Given the description of an element on the screen output the (x, y) to click on. 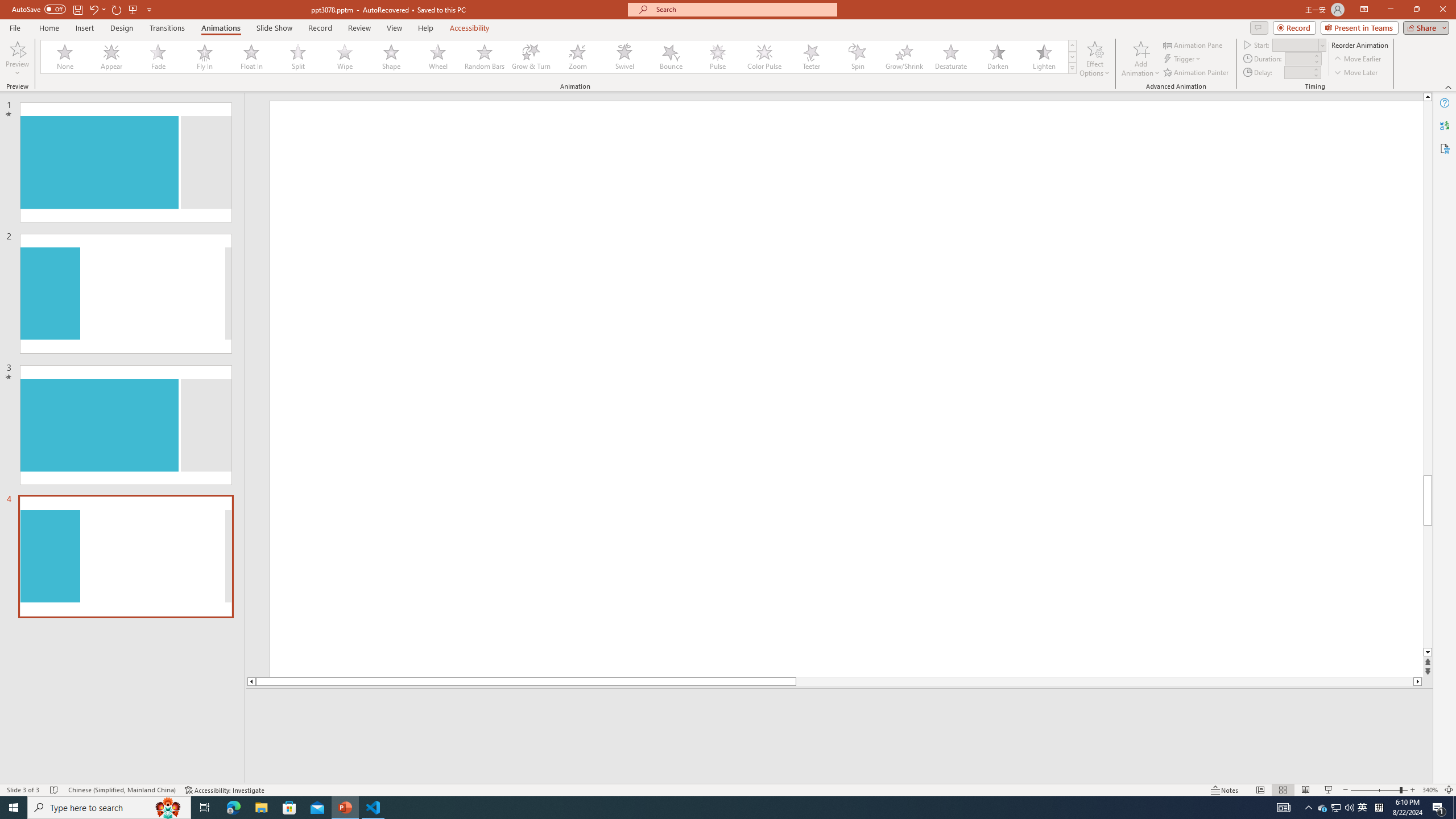
Notes  (1225, 790)
Record (1294, 27)
Desaturate (950, 56)
Add Animation (1141, 58)
Page down (1427, 586)
Move Earlier (1357, 58)
Slide (125, 556)
Spin (857, 56)
Class: MsoCommandBar (728, 789)
Class: NetUIImage (1072, 68)
AutomationID: AnimationGallery (558, 56)
Pulse (717, 56)
Less (1315, 75)
Customize Quick Access Toolbar (149, 9)
Animation Painter (1196, 72)
